Given the description of an element on the screen output the (x, y) to click on. 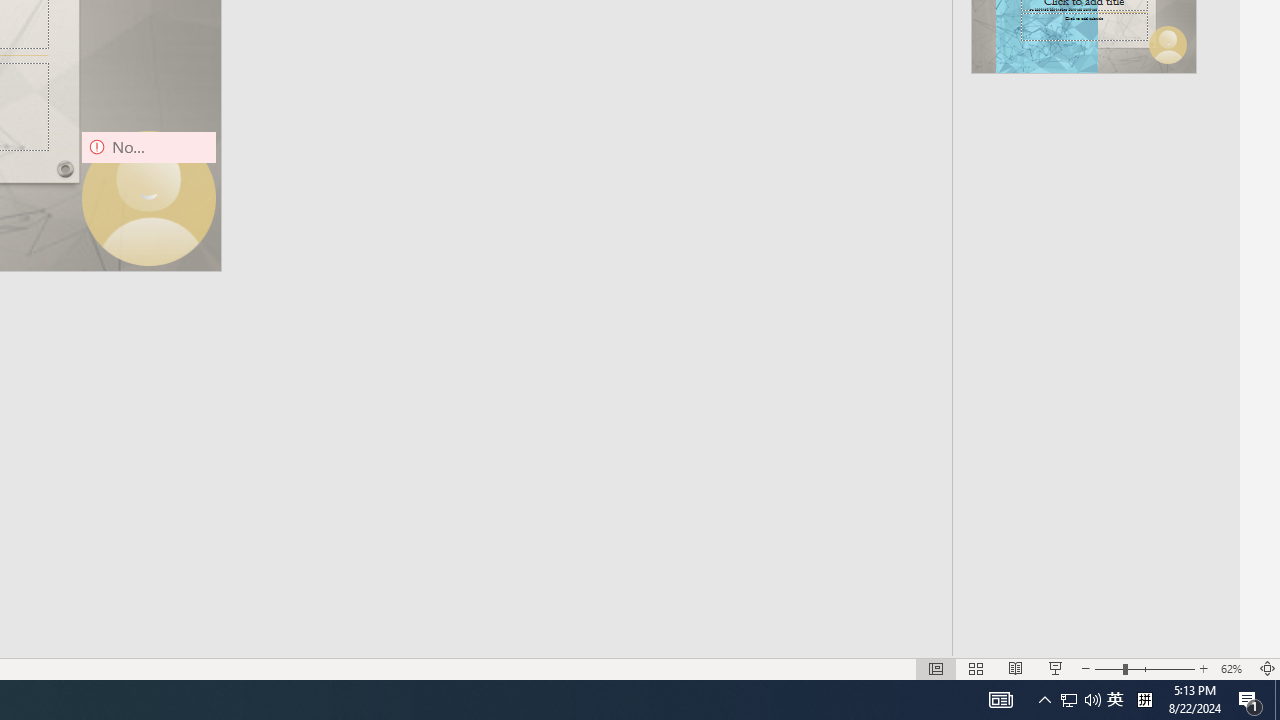
Maximize Panel Size (1183, 218)
Spaces: 4 (929, 628)
Clear Notification (Delete) (1215, 487)
Python (1161, 628)
Launch Profile... (1096, 218)
UTF-8 (1029, 628)
